Given the description of an element on the screen output the (x, y) to click on. 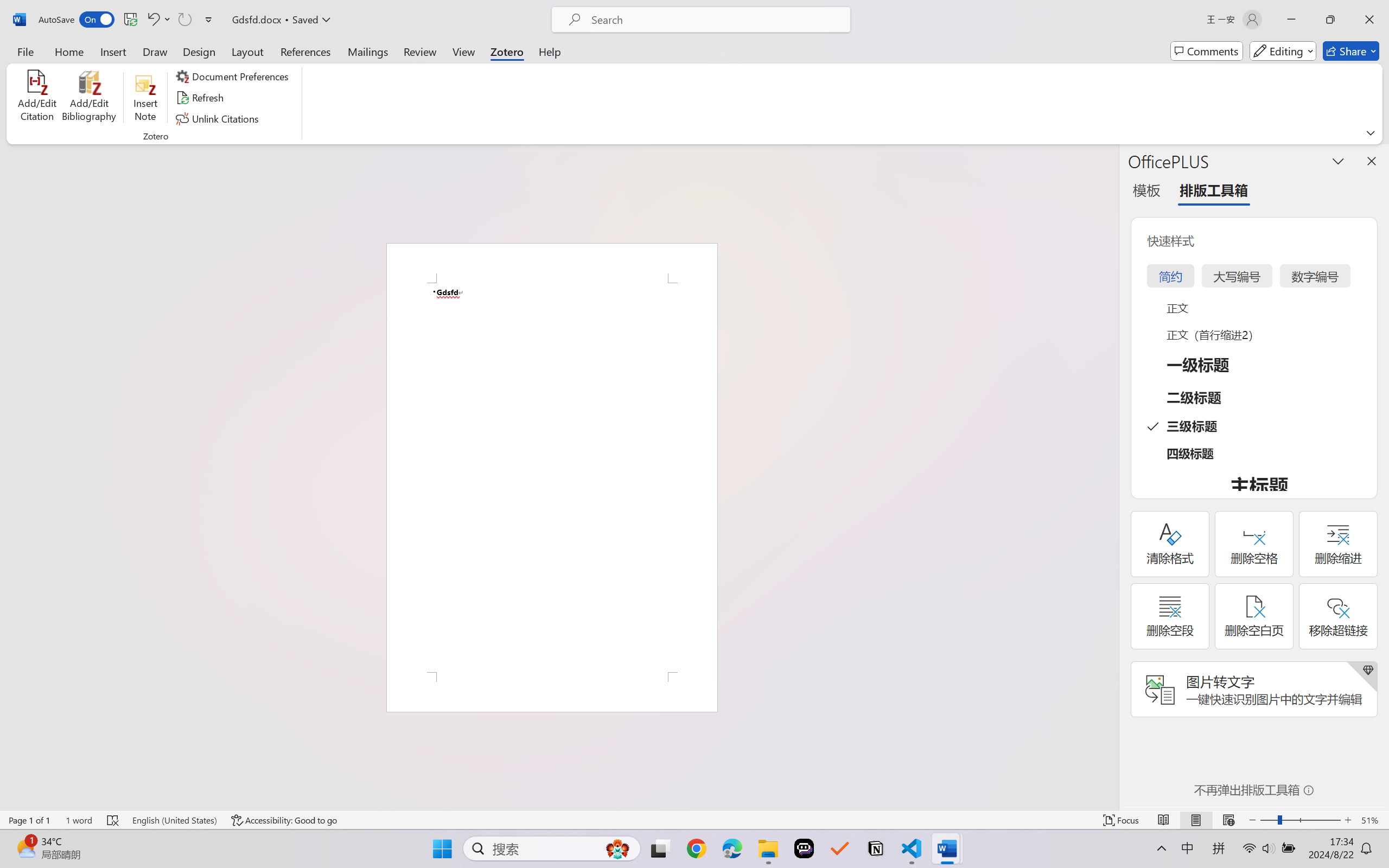
Document Preferences (233, 75)
